Given the description of an element on the screen output the (x, y) to click on. 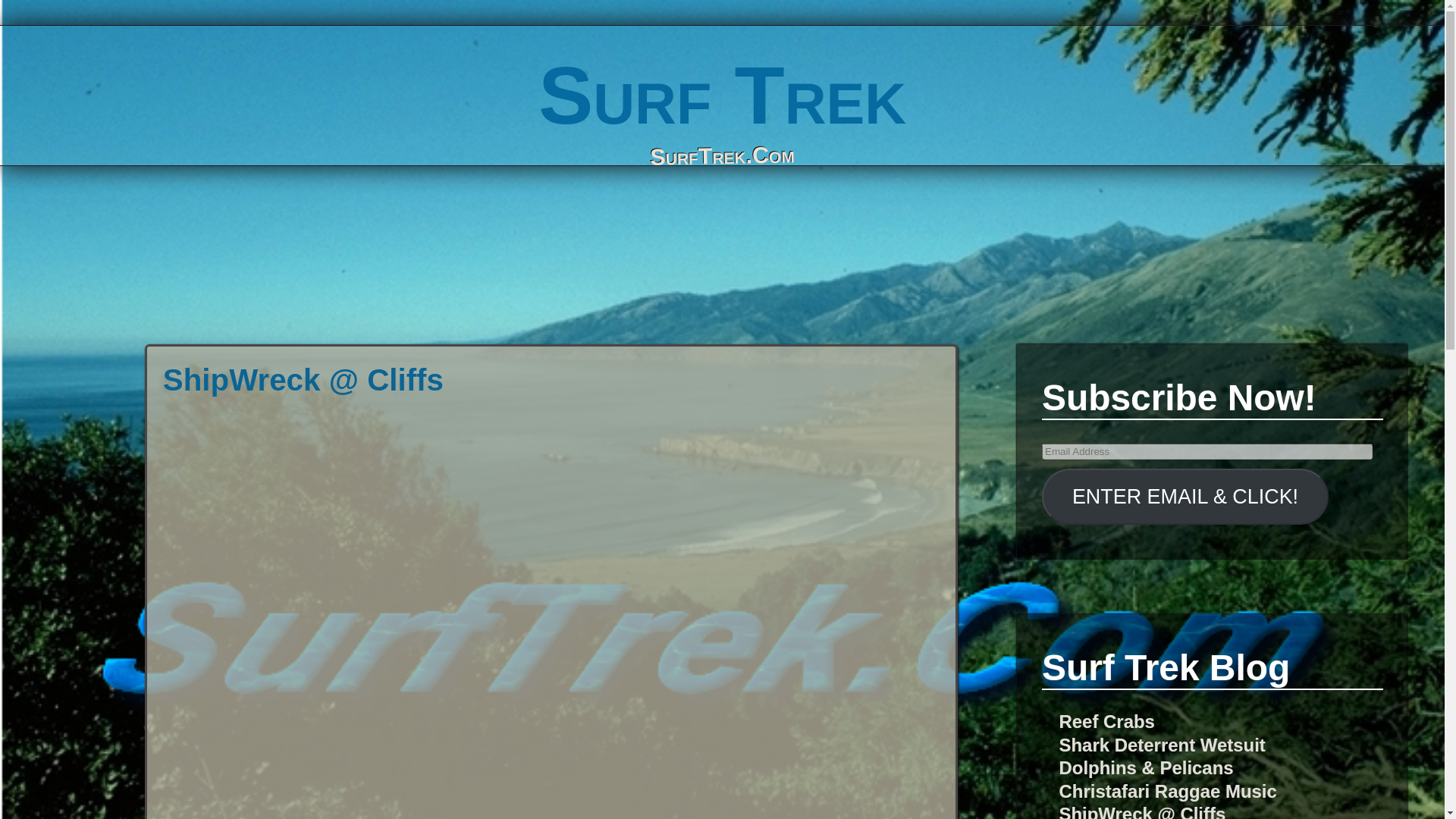
Surf Trek (721, 94)
Christafari Raggae Music (1167, 791)
Shark Deterrent Wetsuit (1161, 744)
Reef Crabs (1106, 721)
